Given the description of an element on the screen output the (x, y) to click on. 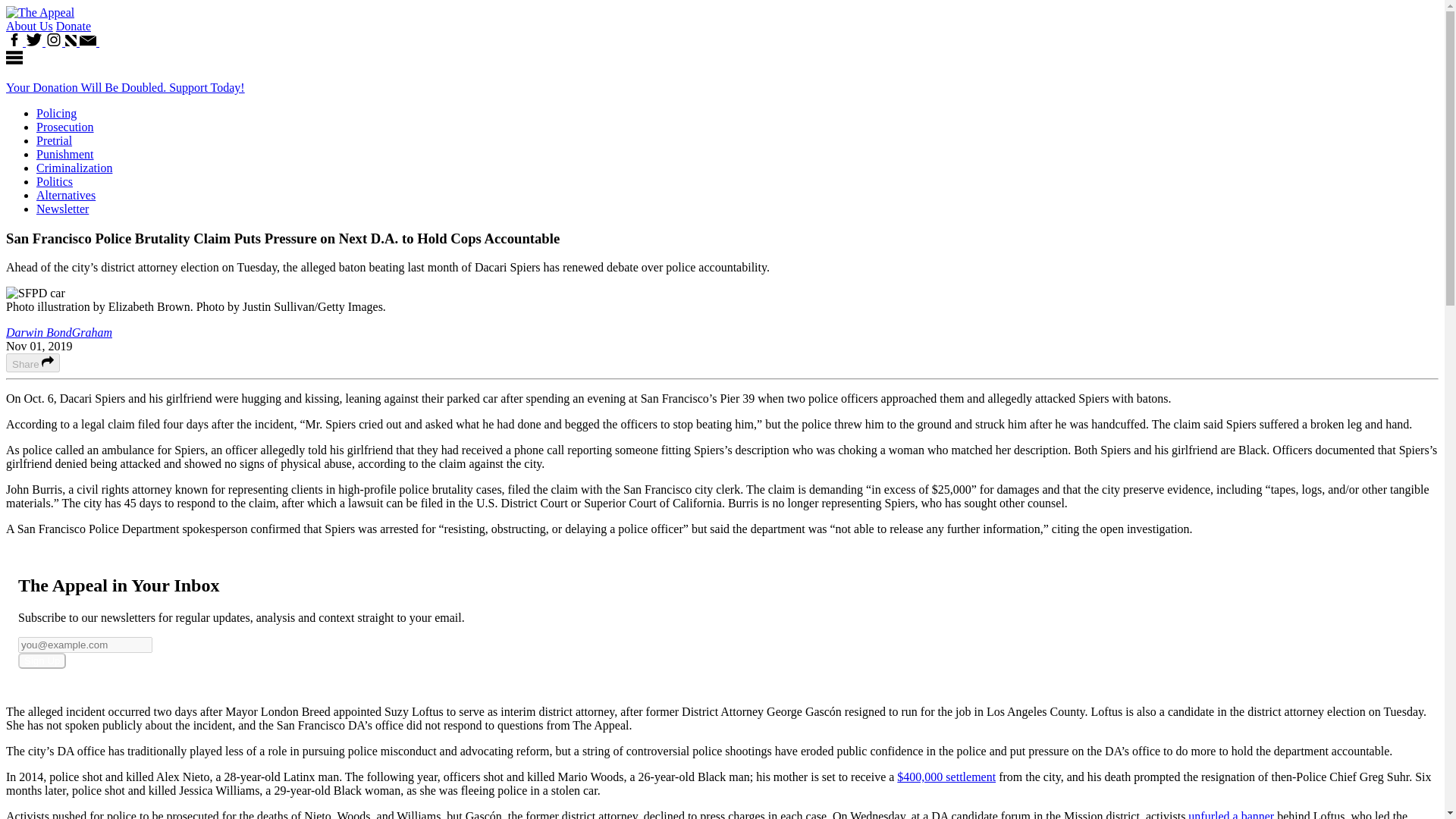
Punishment (65, 154)
Share (32, 362)
Newsletter (62, 208)
Criminalization (74, 167)
Politics (54, 181)
Criminalization (74, 167)
Alternatives (66, 195)
Punishment (65, 154)
Politics (54, 181)
Darwin BondGraham (58, 332)
About Us (28, 25)
Pretrial (53, 140)
Pretrial (53, 140)
Policing (56, 113)
Policing (56, 113)
